Given the description of an element on the screen output the (x, y) to click on. 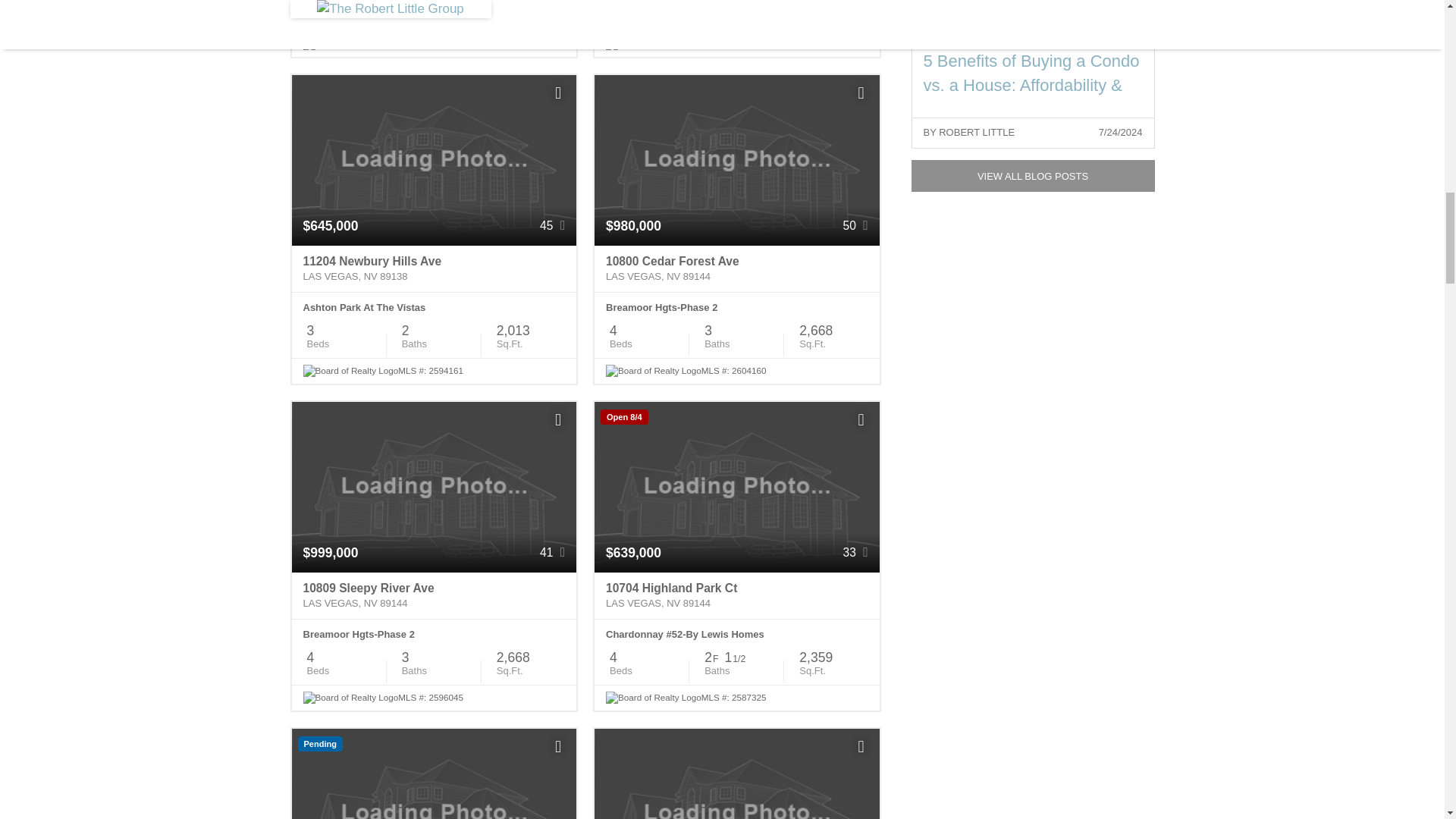
11204 Newbury Hills Ave Las Vegas,  NV 89138 (433, 268)
10800 Cedar Forest Ave Las Vegas,  NV 89144 (736, 268)
